Given the description of an element on the screen output the (x, y) to click on. 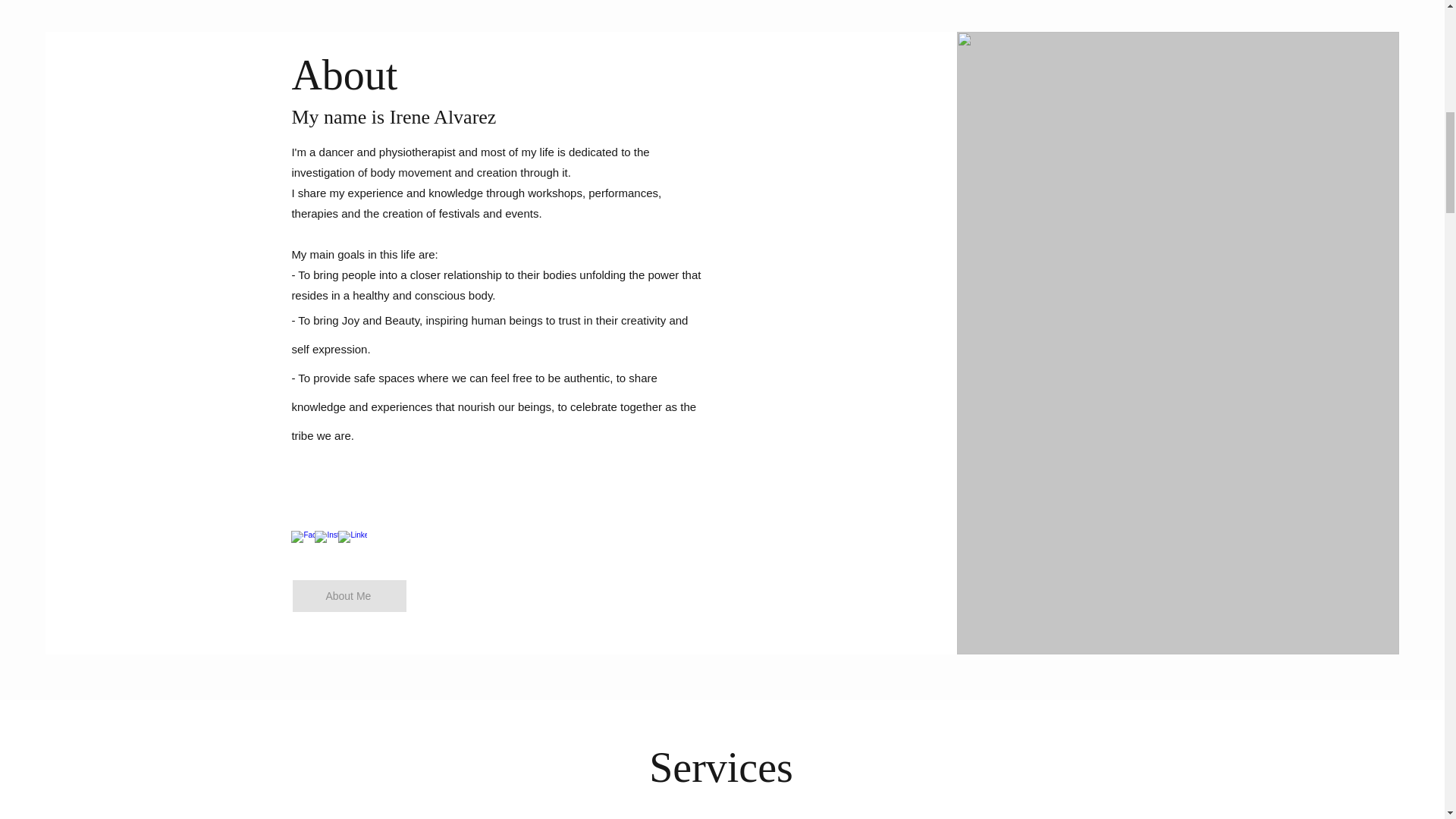
About Me (349, 595)
